Given the description of an element on the screen output the (x, y) to click on. 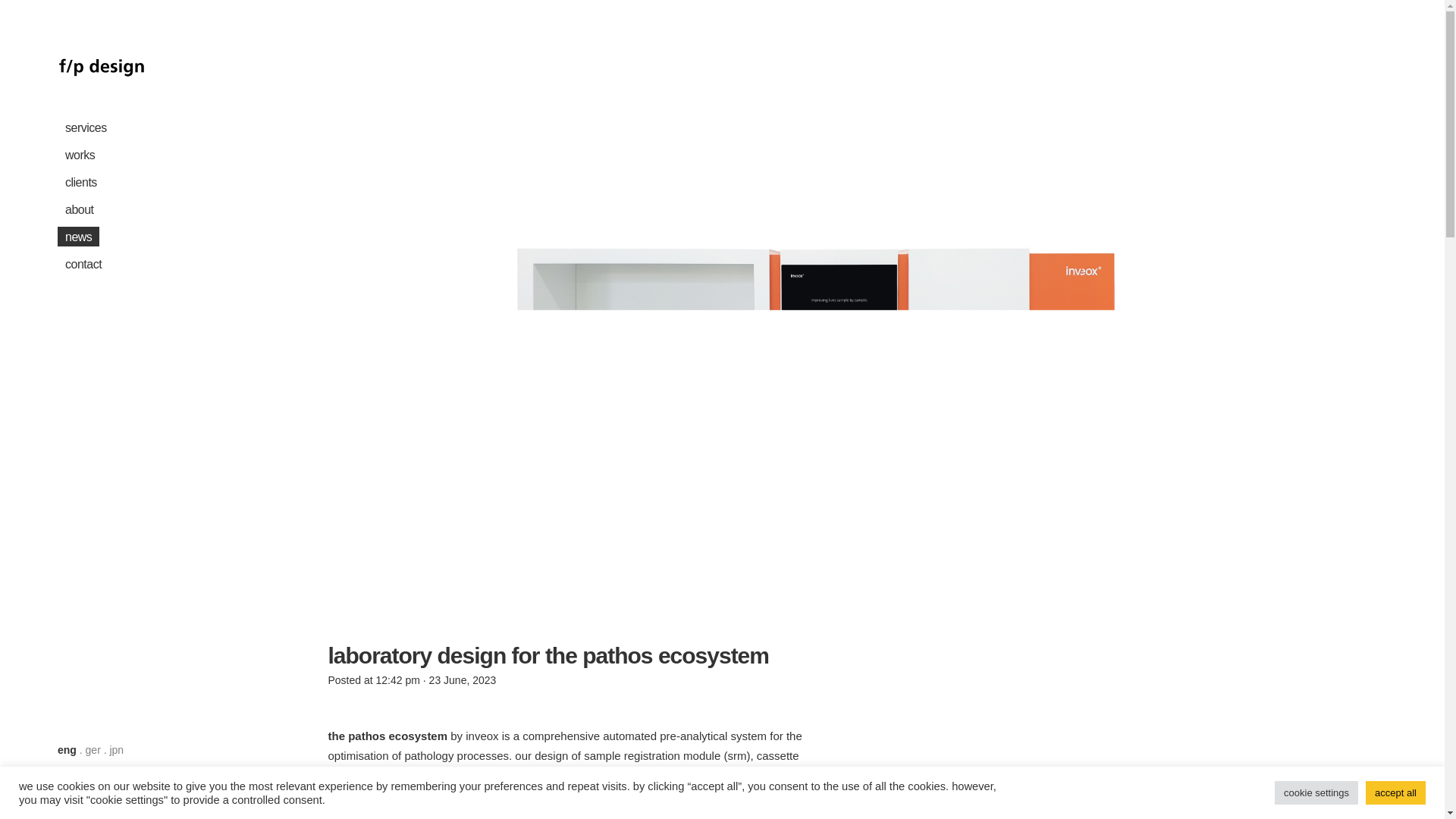
contact (141, 264)
eng (67, 749)
clients (141, 182)
works (141, 154)
news (141, 236)
jpn (116, 749)
eng (67, 749)
services (141, 127)
about (141, 209)
jpn (116, 749)
ger (92, 749)
ger (92, 749)
